Given the description of an element on the screen output the (x, y) to click on. 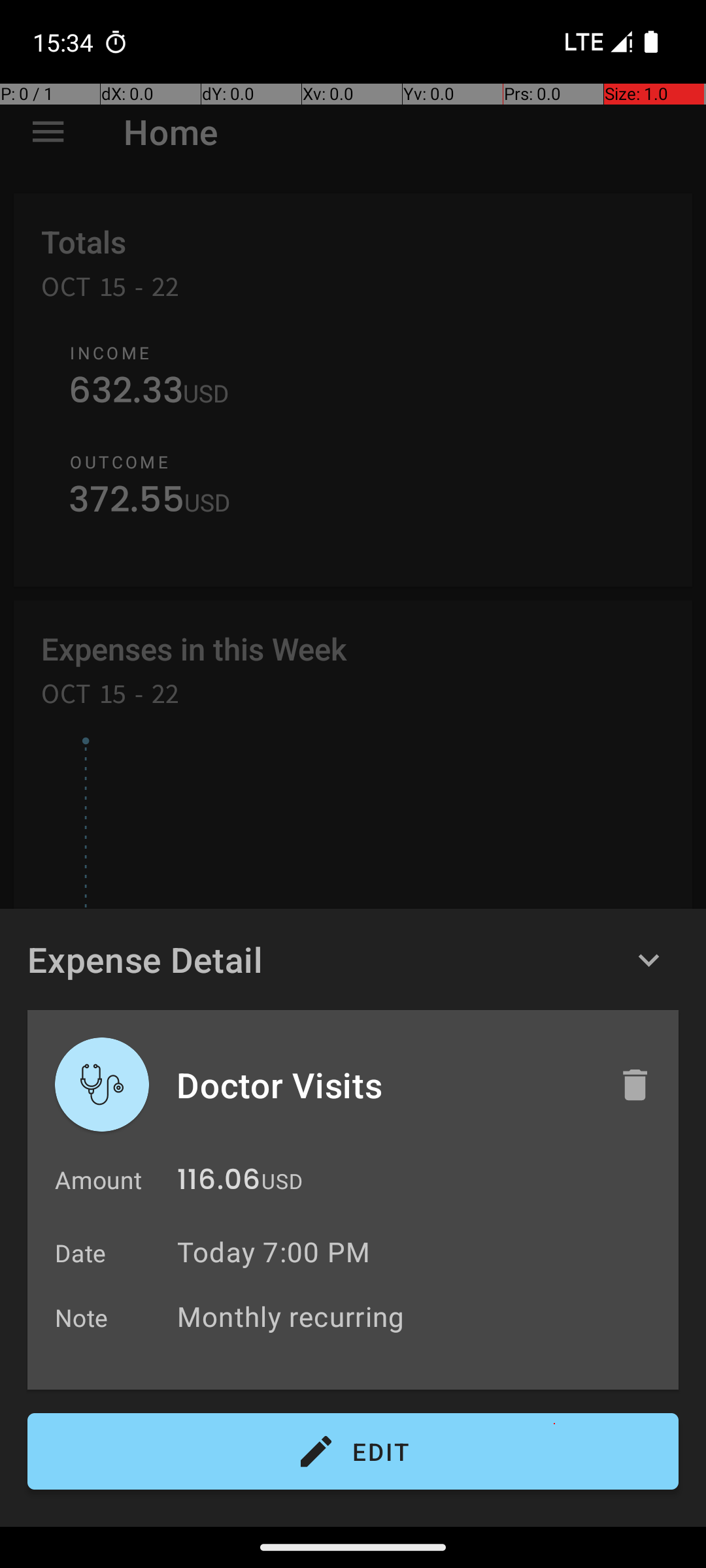
116.06 Element type: android.widget.TextView (218, 1182)
Today 7:00 PM Element type: android.widget.TextView (273, 1251)
Monthly recurring Element type: android.widget.TextView (420, 1315)
